Given the description of an element on the screen output the (x, y) to click on. 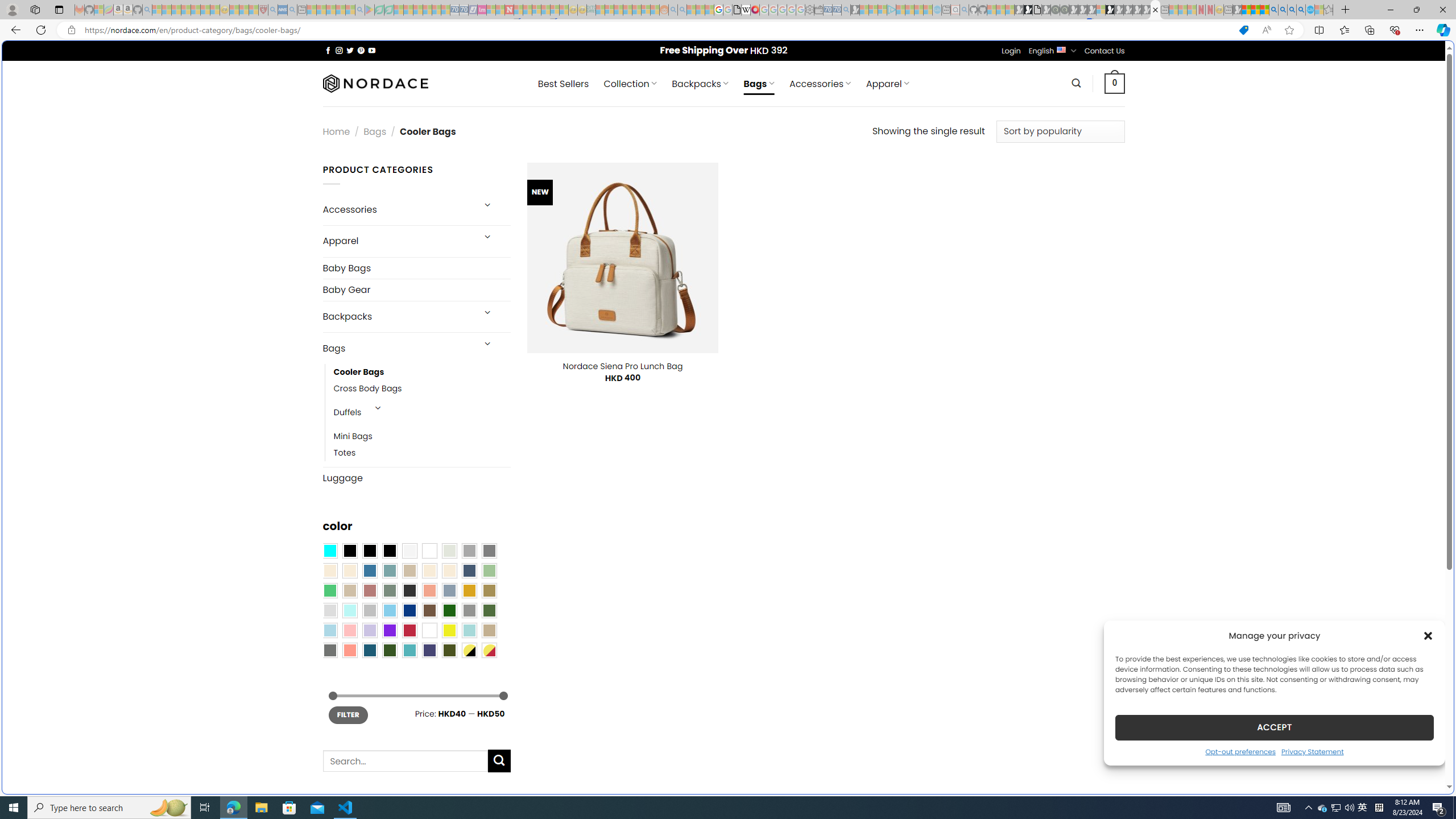
Blue (369, 570)
Apparel (397, 241)
Brown (429, 610)
Yellow (449, 630)
Privacy Statement (1312, 750)
Aqua Blue (329, 550)
Shop order (1060, 131)
Aqua (468, 630)
Sky Blue (389, 610)
